Given the description of an element on the screen output the (x, y) to click on. 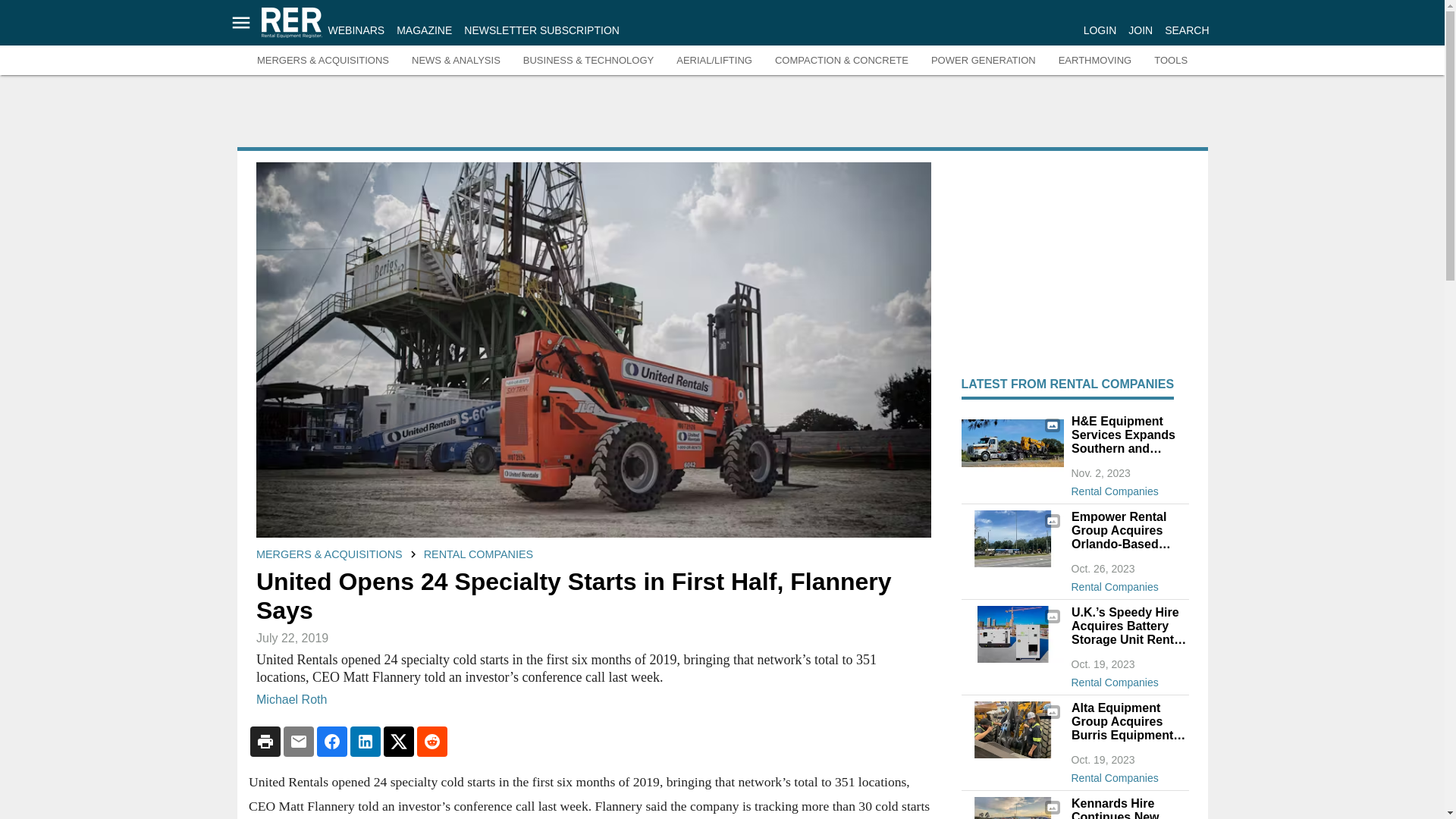
MAGAZINE (423, 30)
WEBINARS (355, 30)
Green Power Hire (1012, 634)
EARTHMOVING (1095, 60)
Florida Rental Equipment Deland Location Fre (1012, 538)
Hees Fld Truck Jcb Sacramento Nov 23 (1012, 442)
NEWSLETTER SUBSCRIPTION (542, 30)
Michael Roth (291, 698)
LOGIN (1099, 30)
JOIN (1140, 30)
Alta Techs With Wheel Loader (1012, 729)
POWER GENERATION (983, 60)
TOOLS (1171, 60)
RENTAL COMPANIES (477, 553)
